Given the description of an element on the screen output the (x, y) to click on. 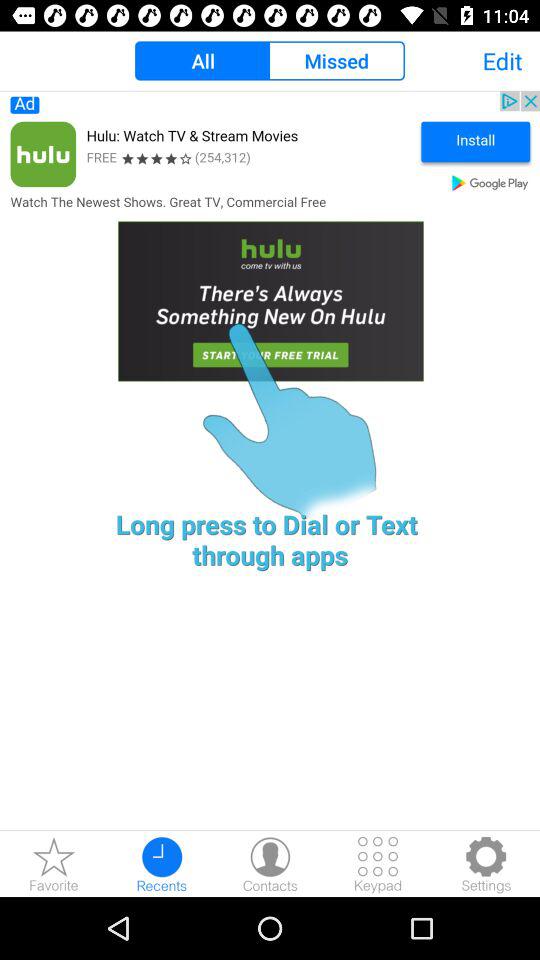
favorite internet sites (53, 864)
